Given the description of an element on the screen output the (x, y) to click on. 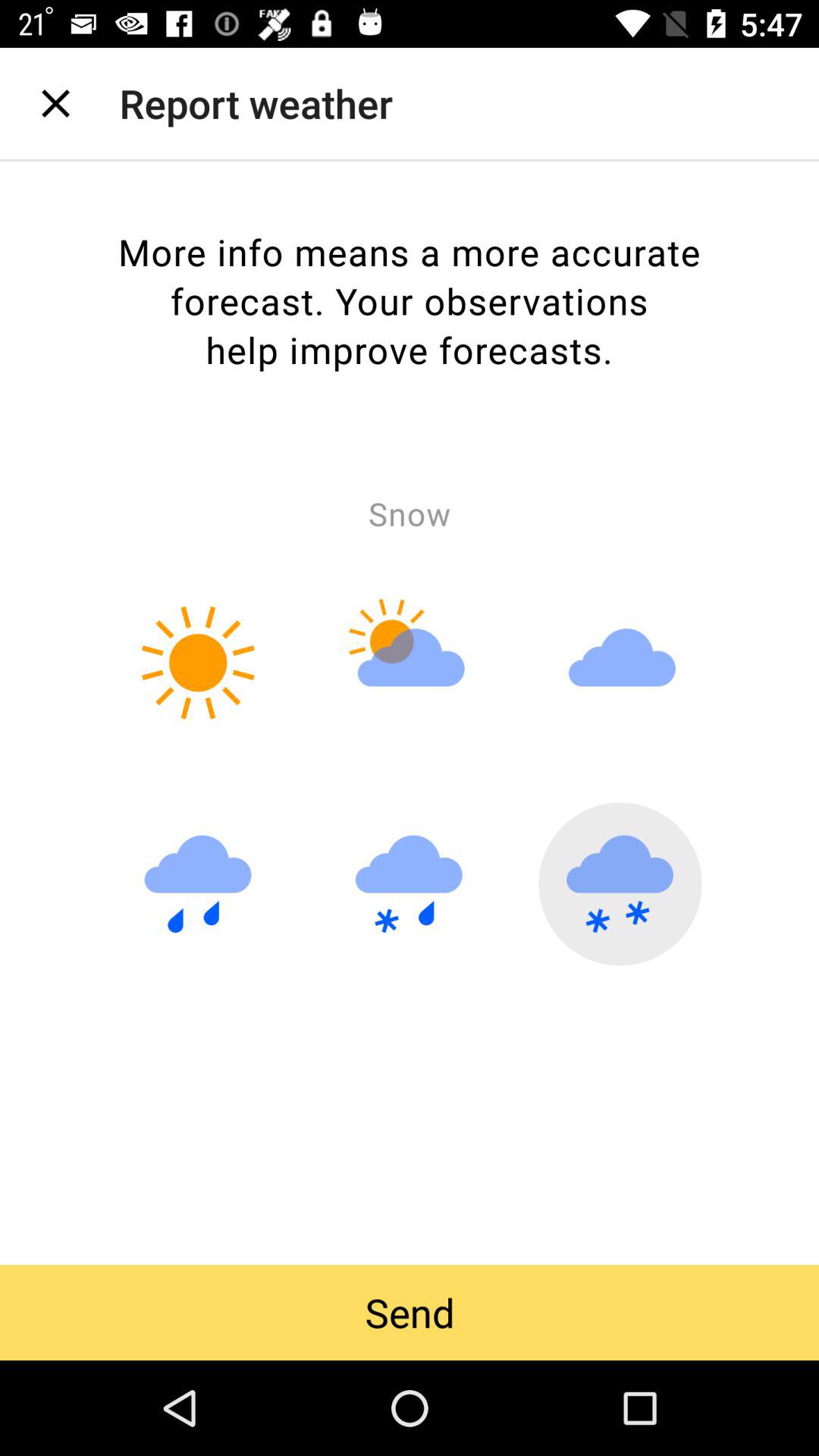
launch the item next to the report weather item (55, 103)
